Given the description of an element on the screen output the (x, y) to click on. 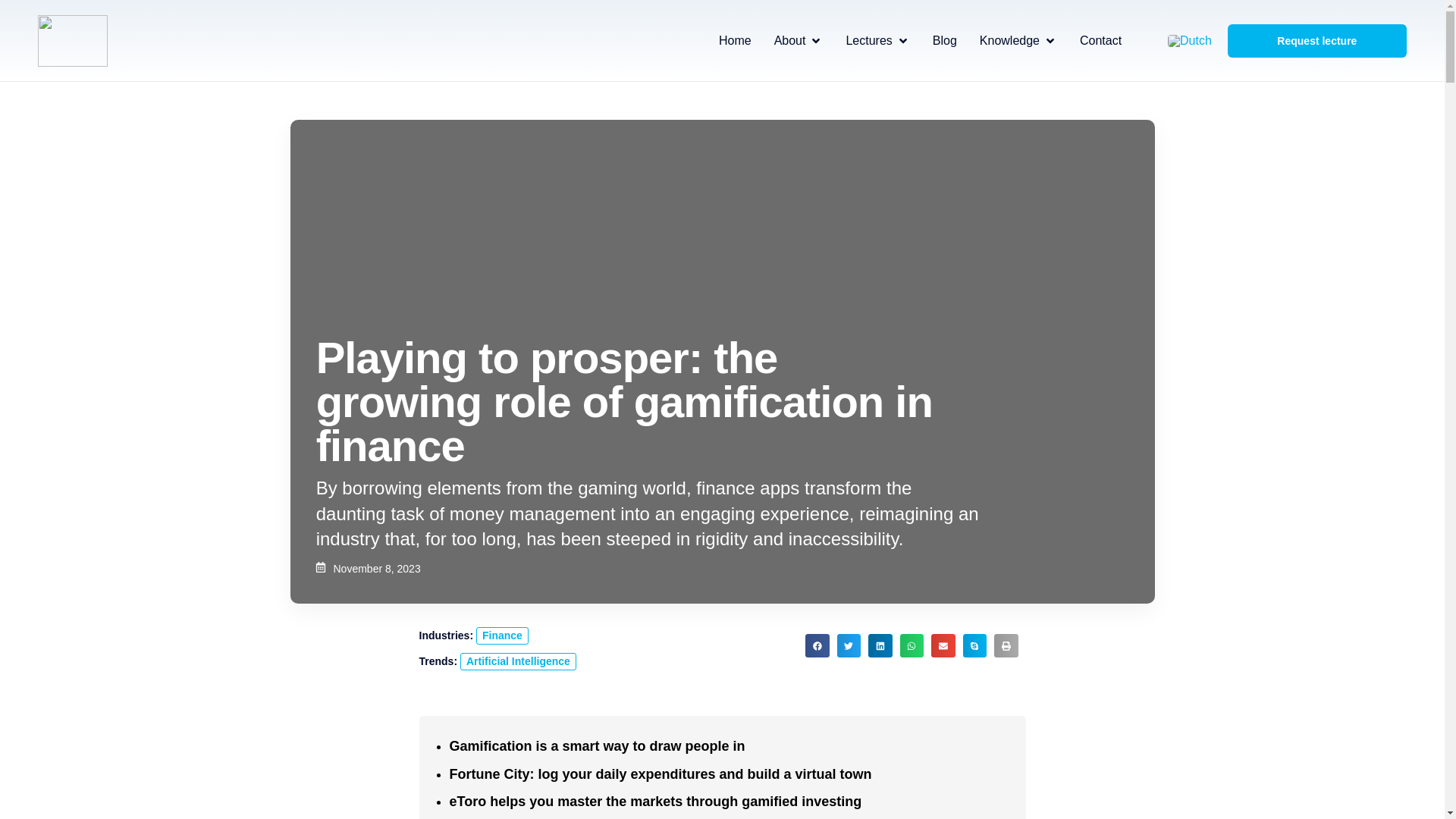
Request lecture (1316, 40)
Finance (502, 635)
Lectures (868, 40)
Knowledge (1009, 40)
Contact (1100, 40)
About (790, 40)
Home (735, 40)
Artificial Intelligence (518, 661)
Blog (944, 40)
